Given the description of an element on the screen output the (x, y) to click on. 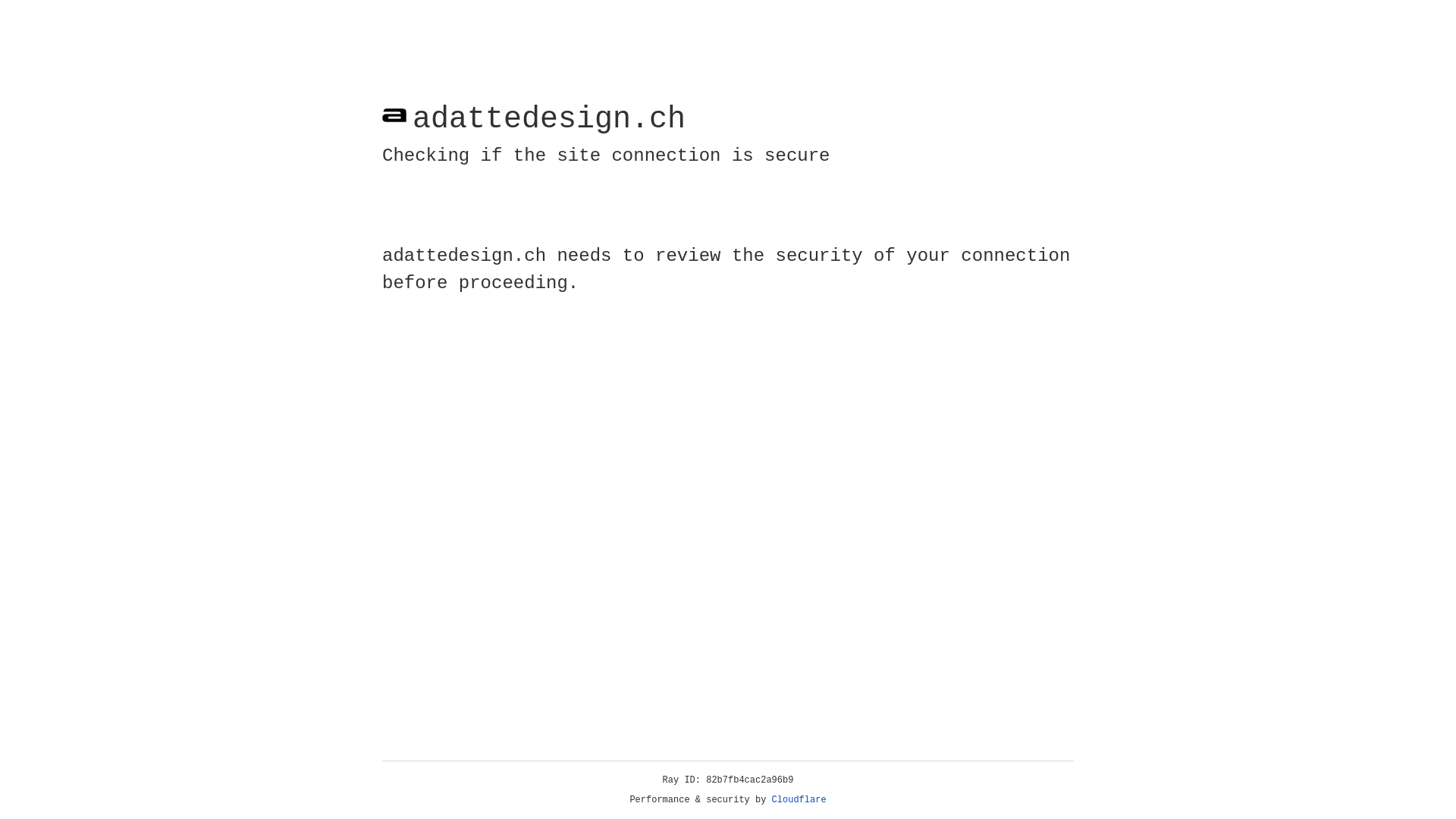
Cloudflare Element type: text (798, 799)
